Given the description of an element on the screen output the (x, y) to click on. 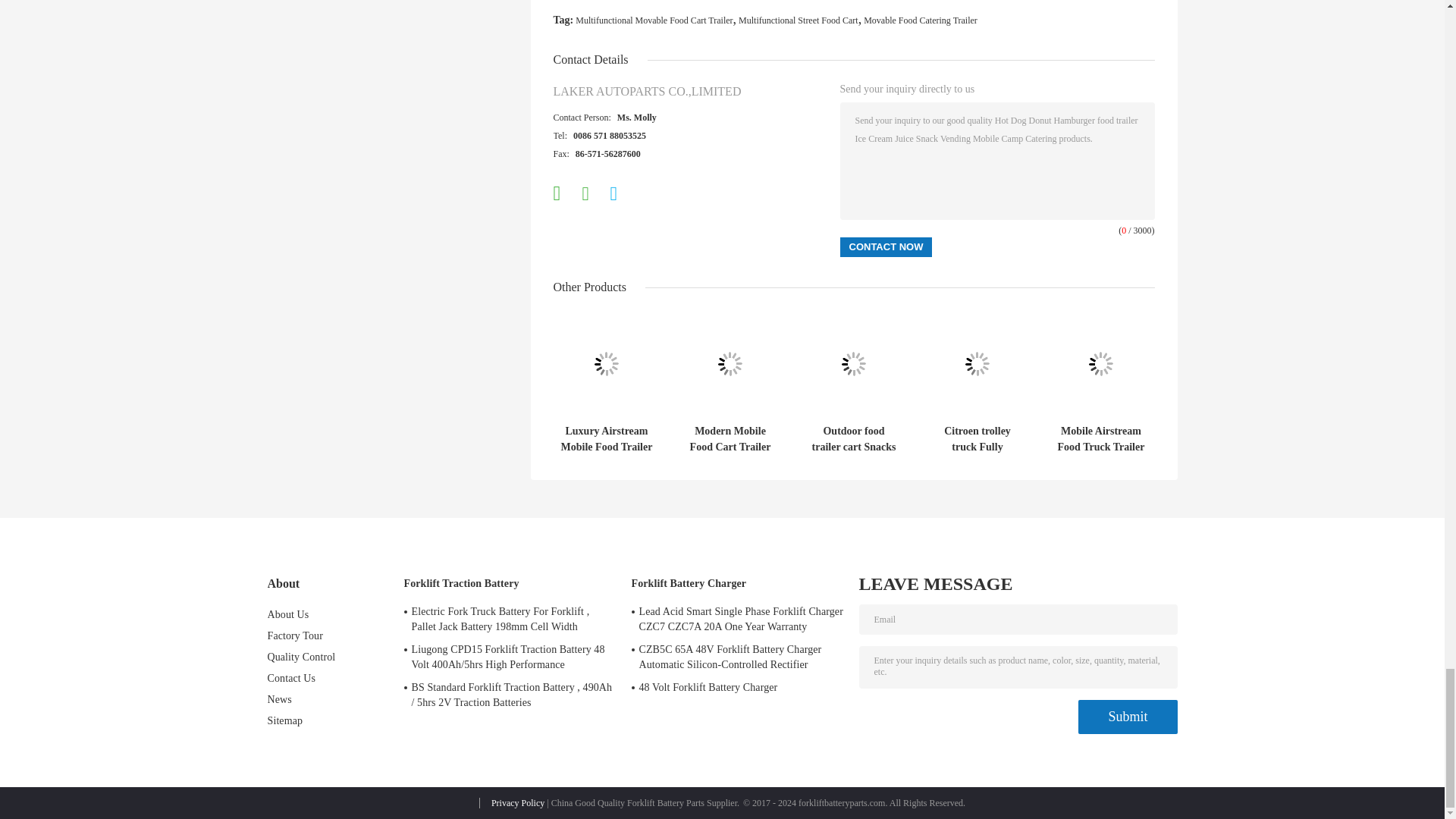
Contact Now (886, 247)
Submit (1127, 716)
